Given the description of an element on the screen output the (x, y) to click on. 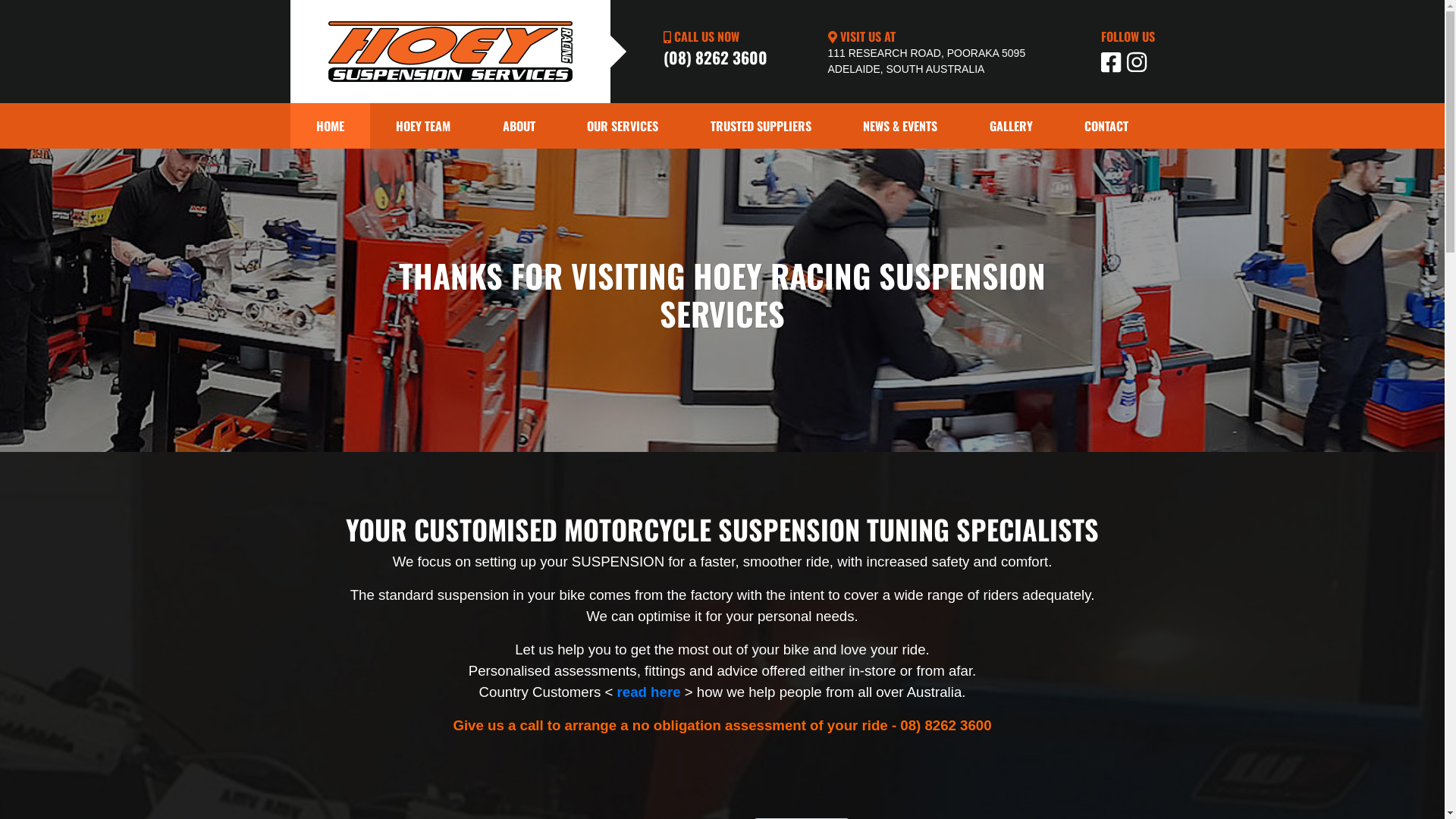
CONTACT Element type: text (1106, 125)
TRUSTED SUPPLIERS Element type: text (760, 125)
OUR SERVICES Element type: text (622, 125)
ABOUT Element type: text (518, 125)
GALLERY Element type: text (1010, 125)
HOEY TEAM Element type: text (423, 125)
NEWS & EVENTS Element type: text (900, 125)
read here Element type: text (648, 691)
HOME
(CURRENT) Element type: text (329, 125)
